Given the description of an element on the screen output the (x, y) to click on. 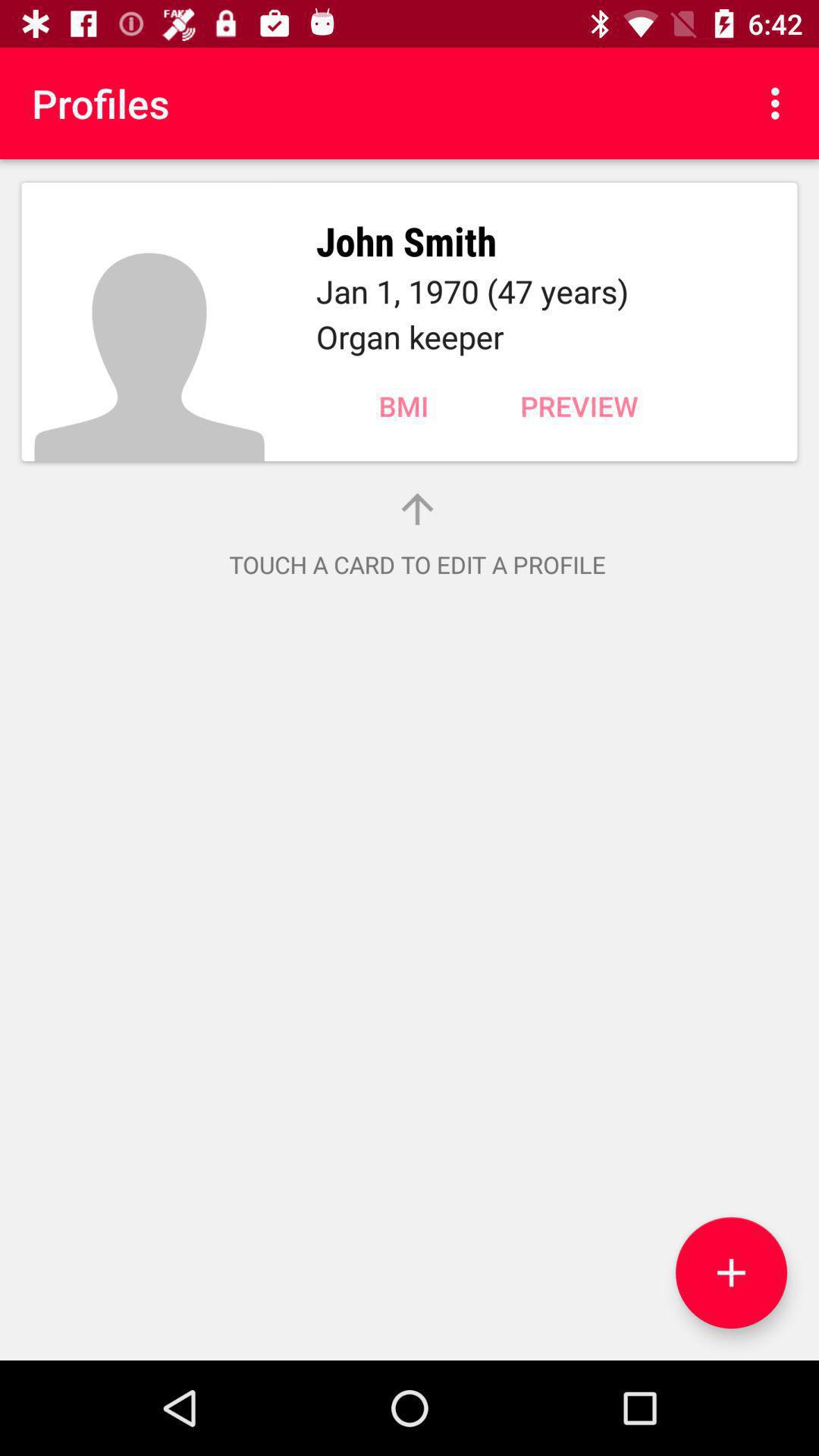
turn on icon next to the bmi item (578, 405)
